Given the description of an element on the screen output the (x, y) to click on. 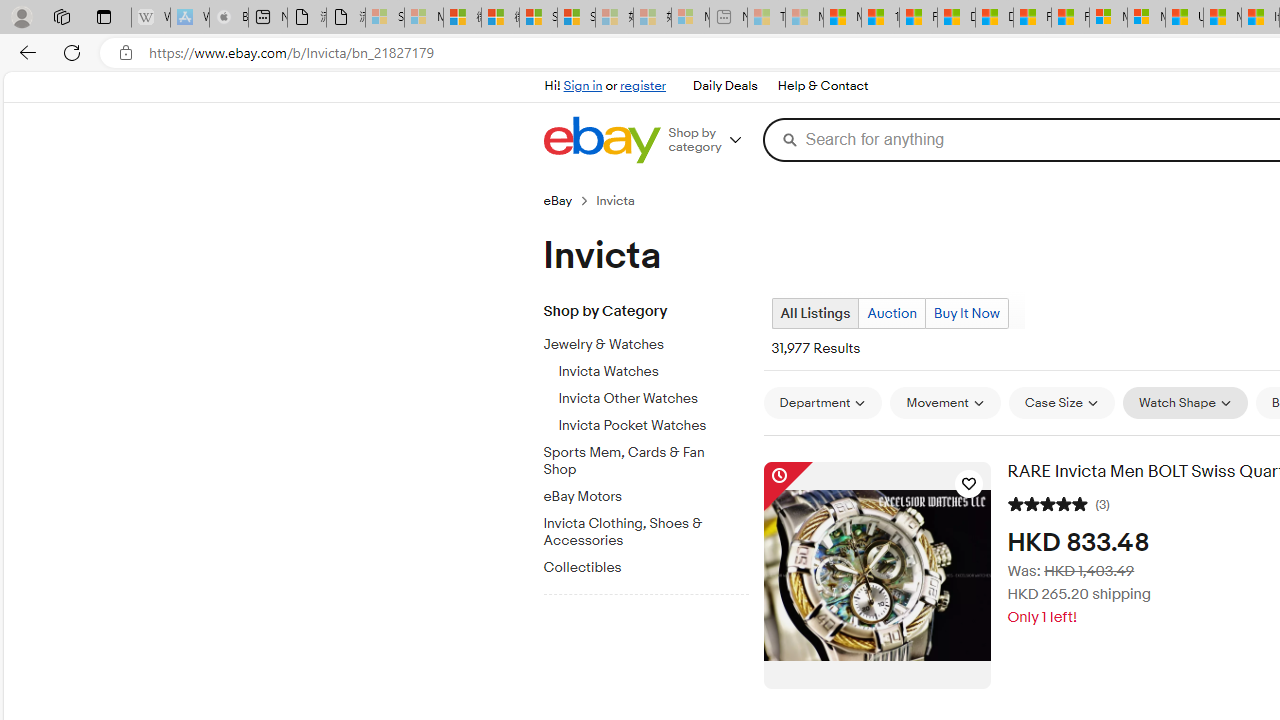
Sports Mem, Cards & Fan Shop (653, 458)
Invicta Clothing, Shoes & Accessories (653, 528)
Sports Mem, Cards & Fan Shop (637, 462)
Help & Contact (822, 86)
Buy It Now (966, 313)
Collectibles (637, 568)
eBay (557, 200)
Collectibles (653, 564)
Top Stories - MSN - Sleeping (765, 17)
eBay Motors (653, 493)
eBay (569, 200)
